Given the description of an element on the screen output the (x, y) to click on. 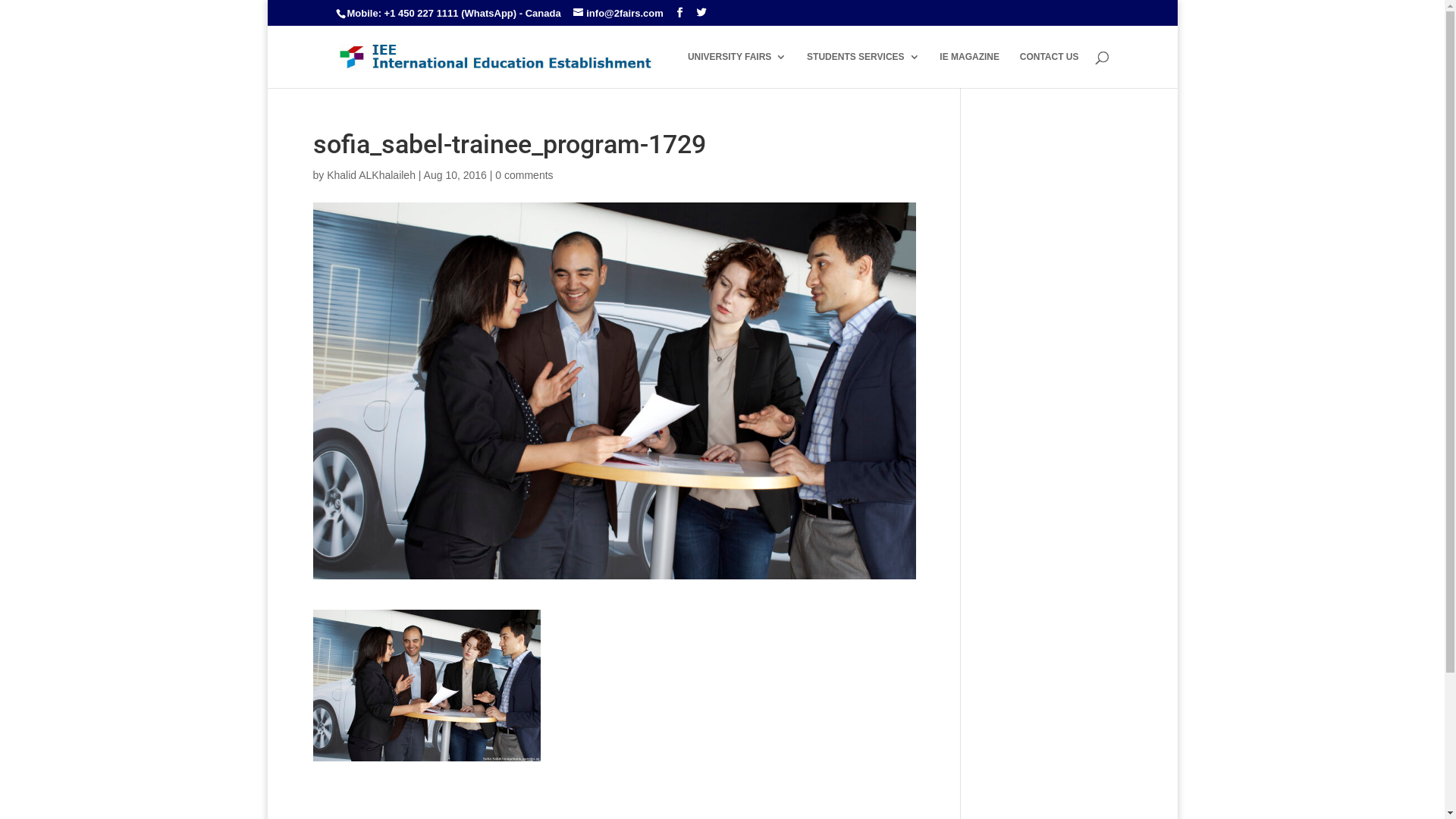
CONTACT US Element type: text (1049, 69)
UNIVERSITY FAIRS Element type: text (736, 69)
info@2fairs.com Element type: text (618, 12)
STUDENTS SERVICES Element type: text (862, 69)
Khalid ALKhalaileh Element type: text (370, 175)
0 comments Element type: text (523, 175)
IE MAGAZINE Element type: text (969, 69)
